Given the description of an element on the screen output the (x, y) to click on. 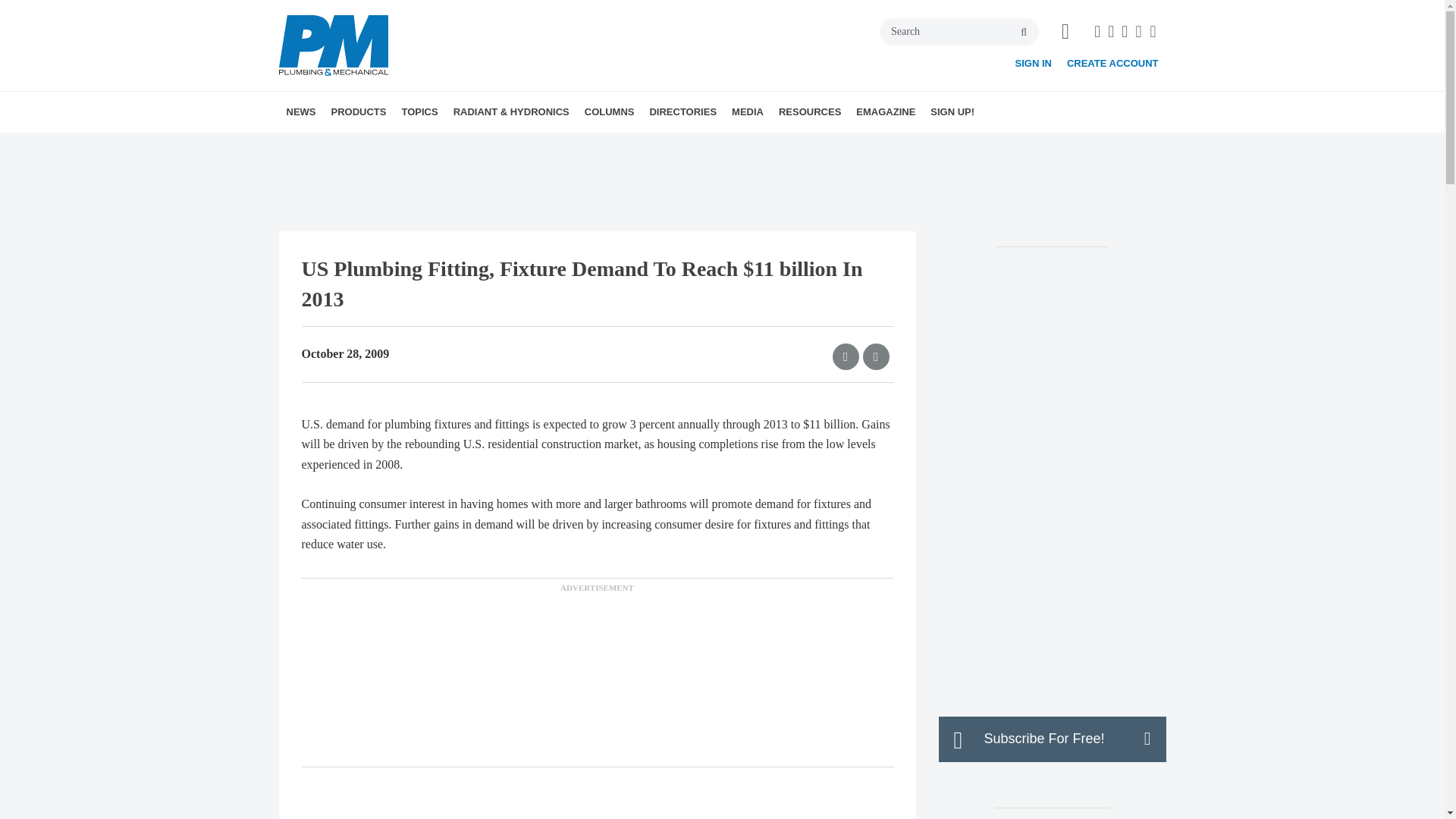
TOPICS (419, 111)
PROJECT PROFILES (525, 145)
Search (959, 31)
PRODUCTS (358, 111)
COLUMNS (609, 111)
RADIANT COMFORT REPORT (539, 145)
Search (959, 31)
HIGH EFFICIENCY HOMES (512, 145)
BUSINESS MANAGEMENT (496, 145)
JOHN SIEGENTHALER (683, 145)
